Given the description of an element on the screen output the (x, y) to click on. 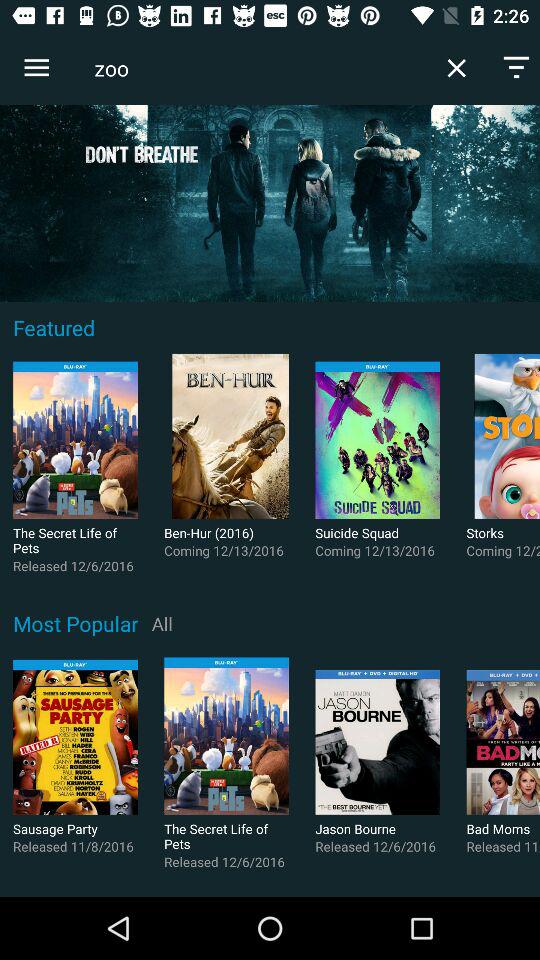
turn off the icon next to the most popular icon (162, 623)
